Given the description of an element on the screen output the (x, y) to click on. 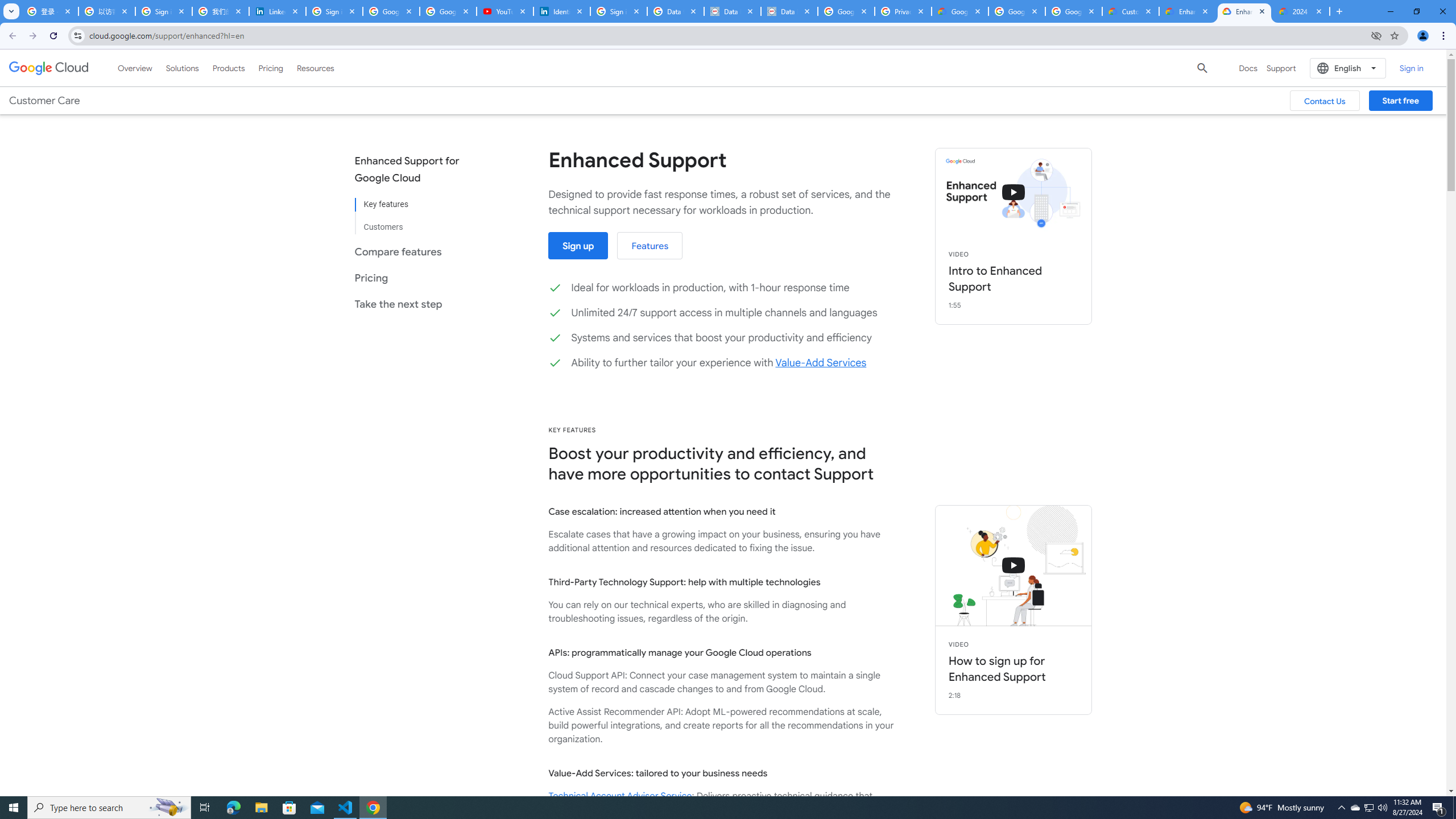
connecting with support (1013, 565)
Docs (1248, 67)
Customer Care | Google Cloud (1130, 11)
Resources (314, 67)
